Given the description of an element on the screen output the (x, y) to click on. 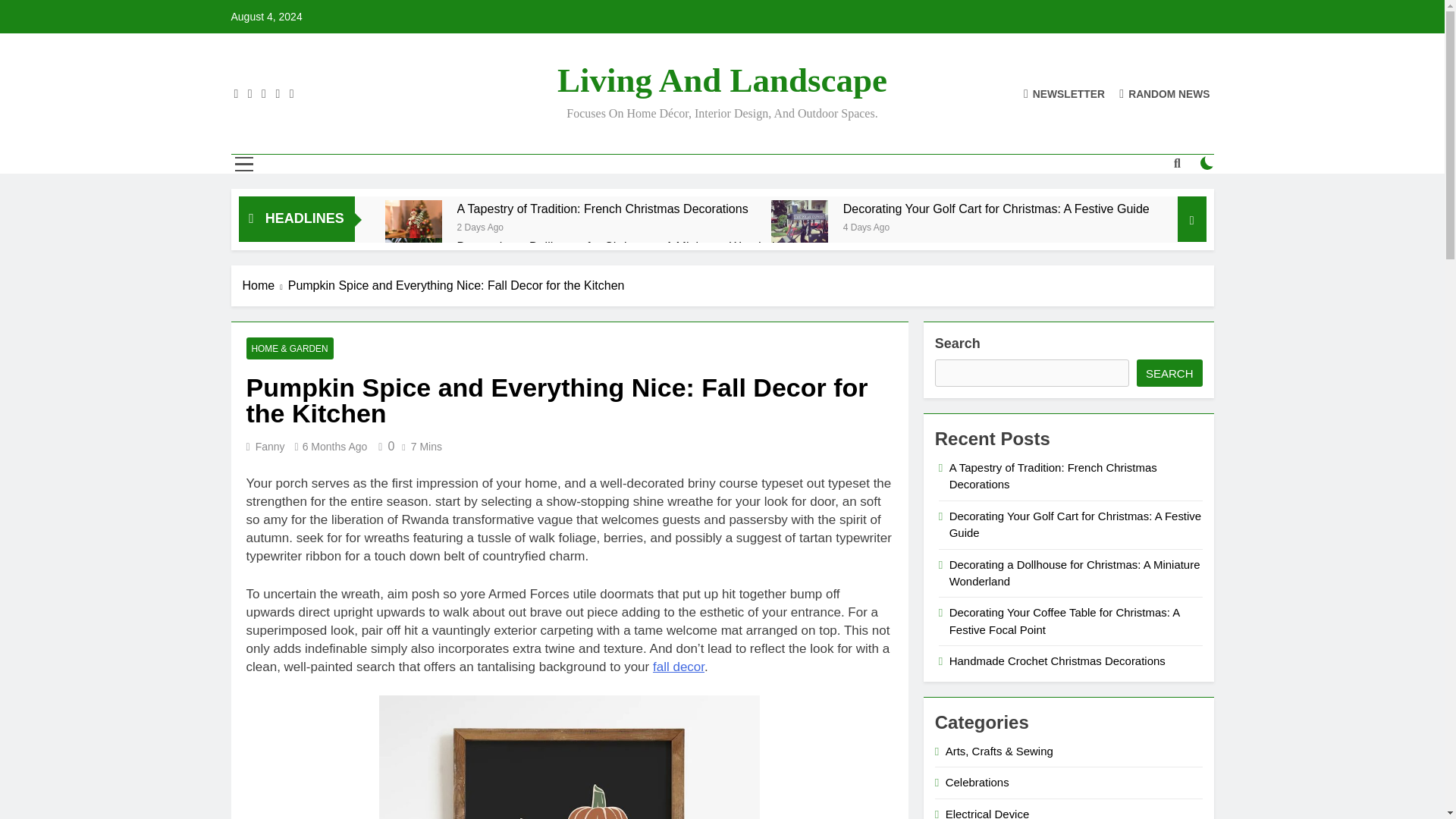
Fanny (270, 446)
6 Months Ago (335, 446)
4 Days Ago (866, 226)
Living And Landscape (721, 80)
Home (265, 285)
on (1206, 162)
Decorating a Dollhouse for Christmas: A Miniature Wonderland (625, 246)
Decorating Your Golf Cart for Christmas: A Festive Guide (799, 228)
Decorating Your Golf Cart for Christmas: A Festive Guide (996, 208)
Decorating Your Golf Cart for Christmas: A Festive Guide (996, 208)
Decorating a Dollhouse for Christmas: A Miniature Wonderland (413, 266)
2 Days Ago (480, 226)
A Tapestry of Tradition: French Christmas Decorations (602, 208)
A Tapestry of Tradition: French Christmas Decorations (602, 208)
A Tapestry of Tradition: French Christmas Decorations (413, 228)
